Given the description of an element on the screen output the (x, y) to click on. 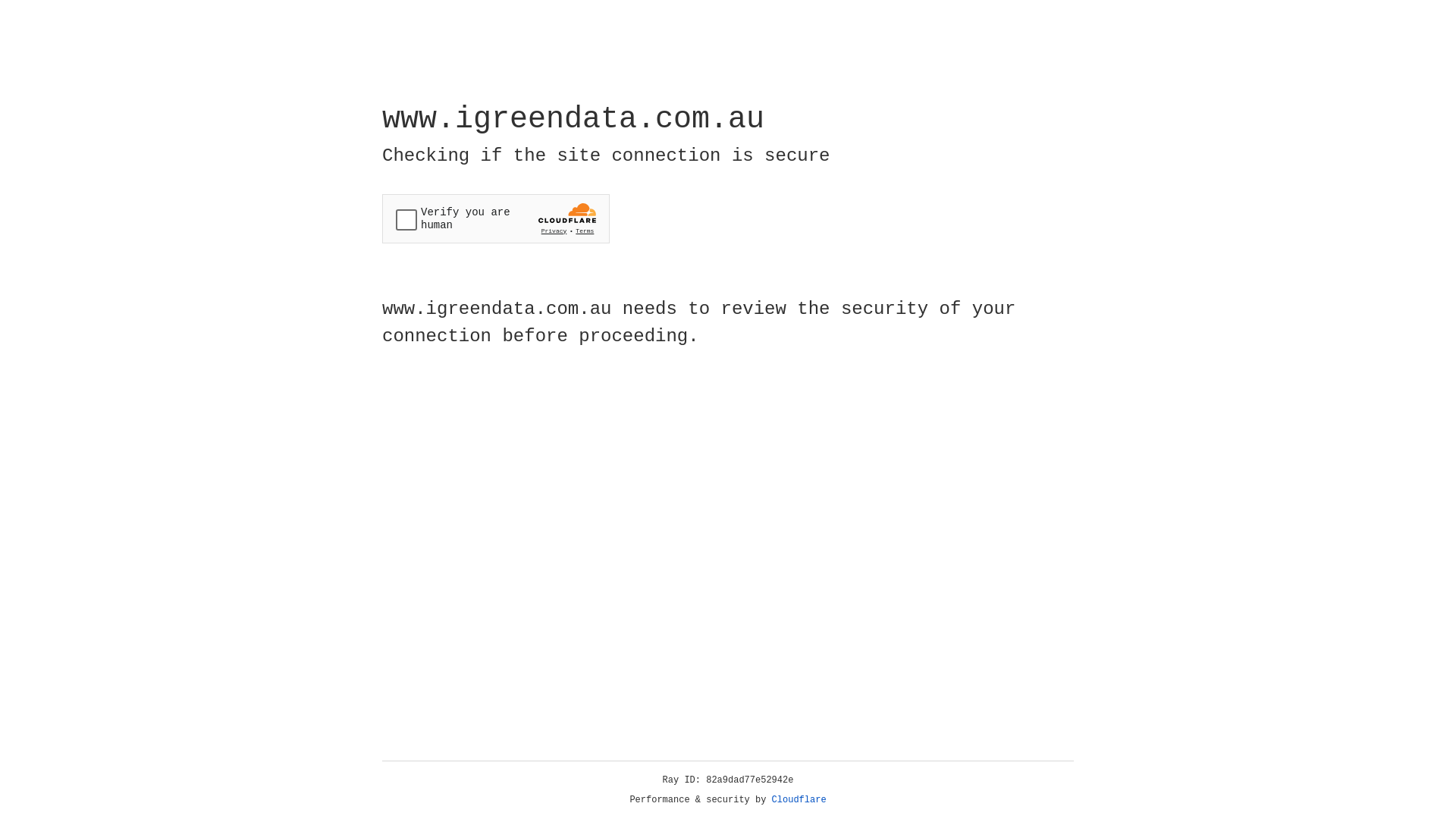
Cloudflare Element type: text (798, 799)
Widget containing a Cloudflare security challenge Element type: hover (495, 218)
